Given the description of an element on the screen output the (x, y) to click on. 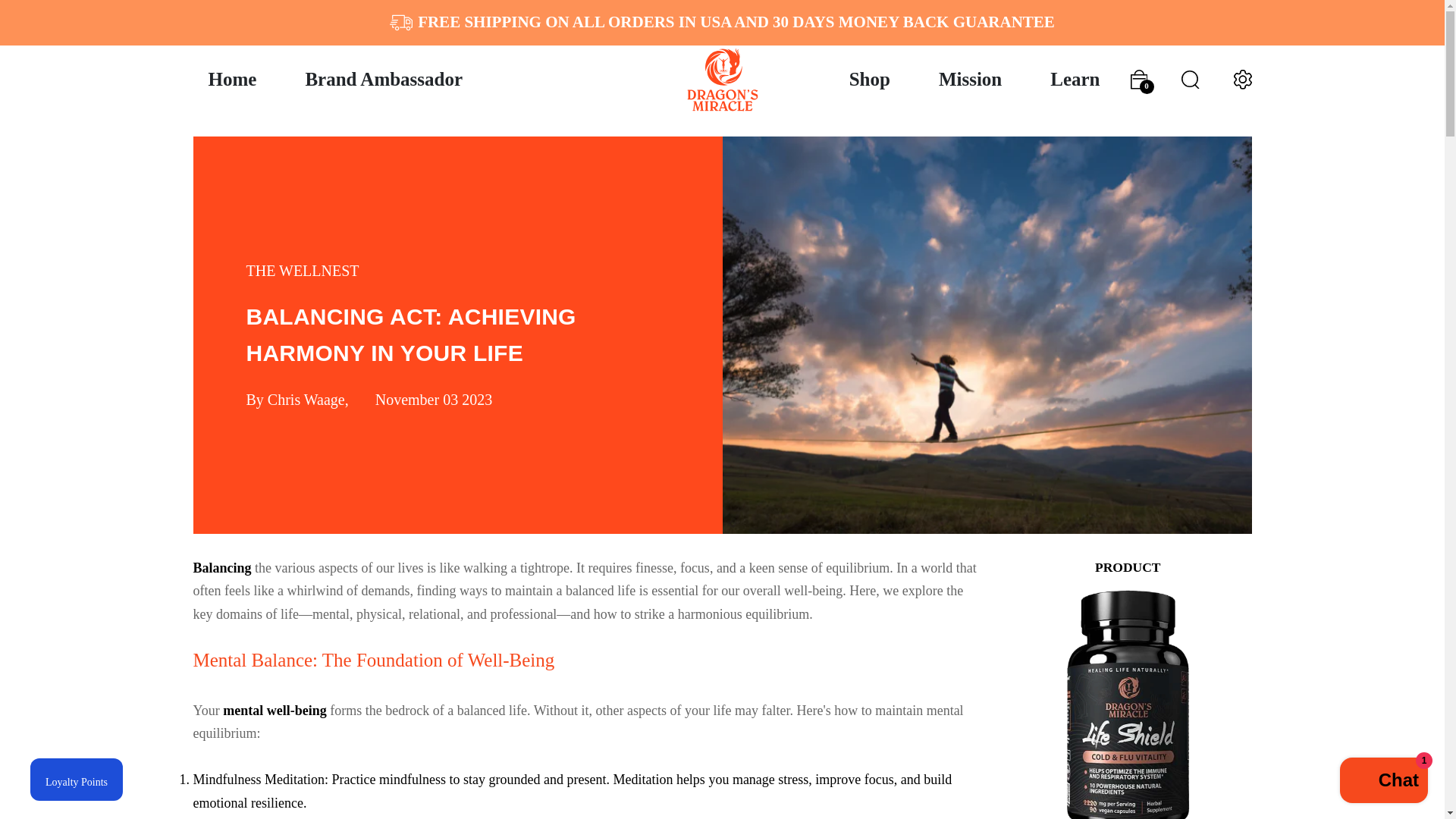
Balancing (221, 567)
Mission (969, 78)
Home (231, 78)
Shop (869, 78)
Home (231, 78)
Brand  Ambassador (383, 78)
Learn (1075, 78)
Brand Ambassador (383, 78)
Learn (1075, 78)
Shopify online store chat (1383, 781)
Shop (869, 78)
mental well-being (274, 710)
My Account (1242, 79)
Mission (969, 78)
